Given the description of an element on the screen output the (x, y) to click on. 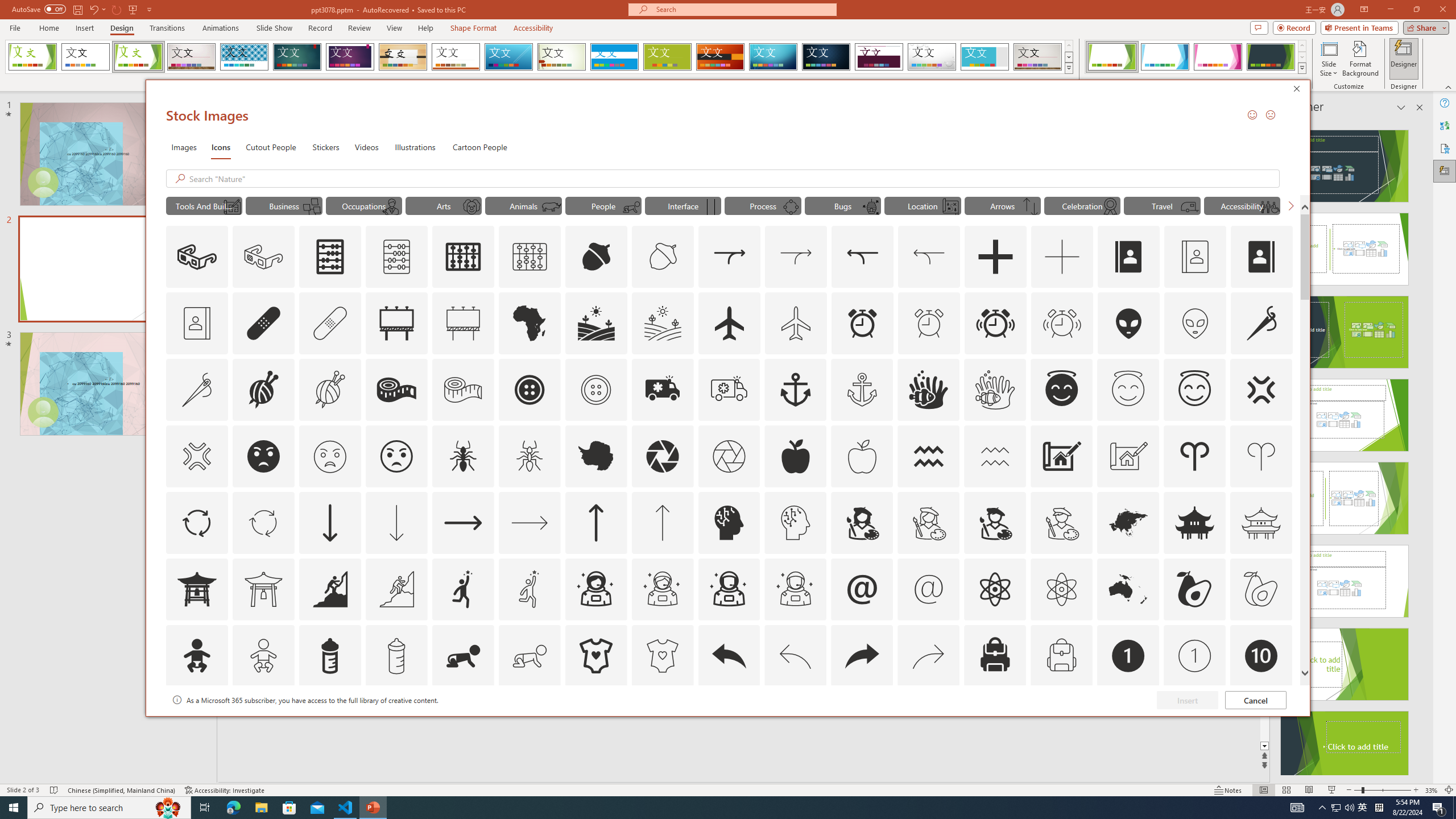
AutomationID: Icons_Back_RTL_M (928, 655)
AutomationID: Icons_AlterationsTailoring (1261, 323)
Class: NetUIScrollBar (1418, 447)
Send a Frown (1269, 114)
Shape Format (473, 28)
AutomationID: Icons_ArtistMale_M (1061, 522)
Facet (138, 56)
AutomationID: Icons_AdhesiveBandage_M (330, 323)
AutomationID: Icons_ArtistMale (995, 522)
